Given the description of an element on the screen output the (x, y) to click on. 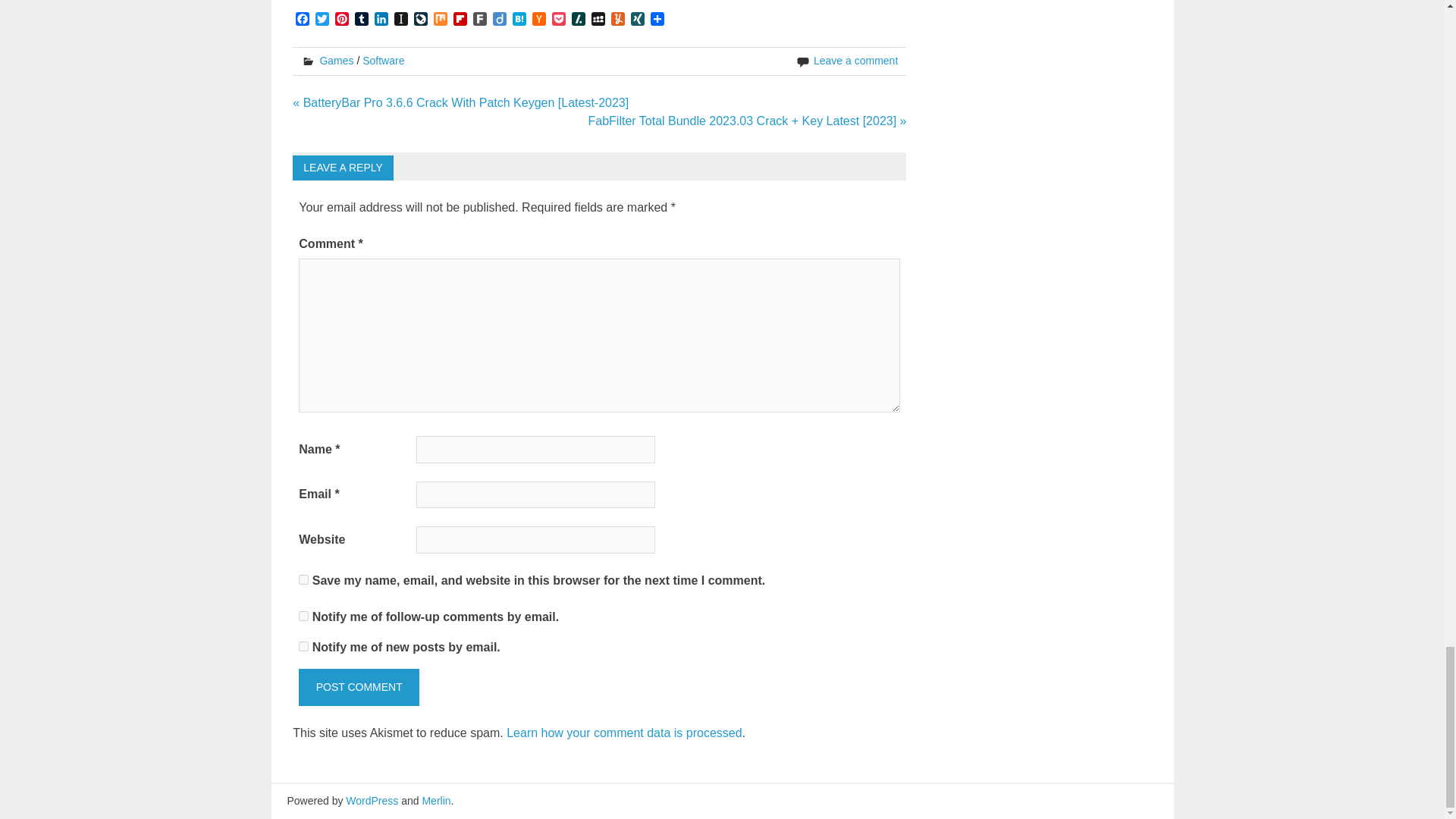
Twitter (322, 20)
Facebook (302, 20)
Fark (479, 20)
LinkedIn (381, 20)
subscribe (303, 646)
Flipboard (459, 20)
Instapaper (400, 20)
Tumblr (361, 20)
Diigo (499, 20)
subscribe (303, 615)
